Given the description of an element on the screen output the (x, y) to click on. 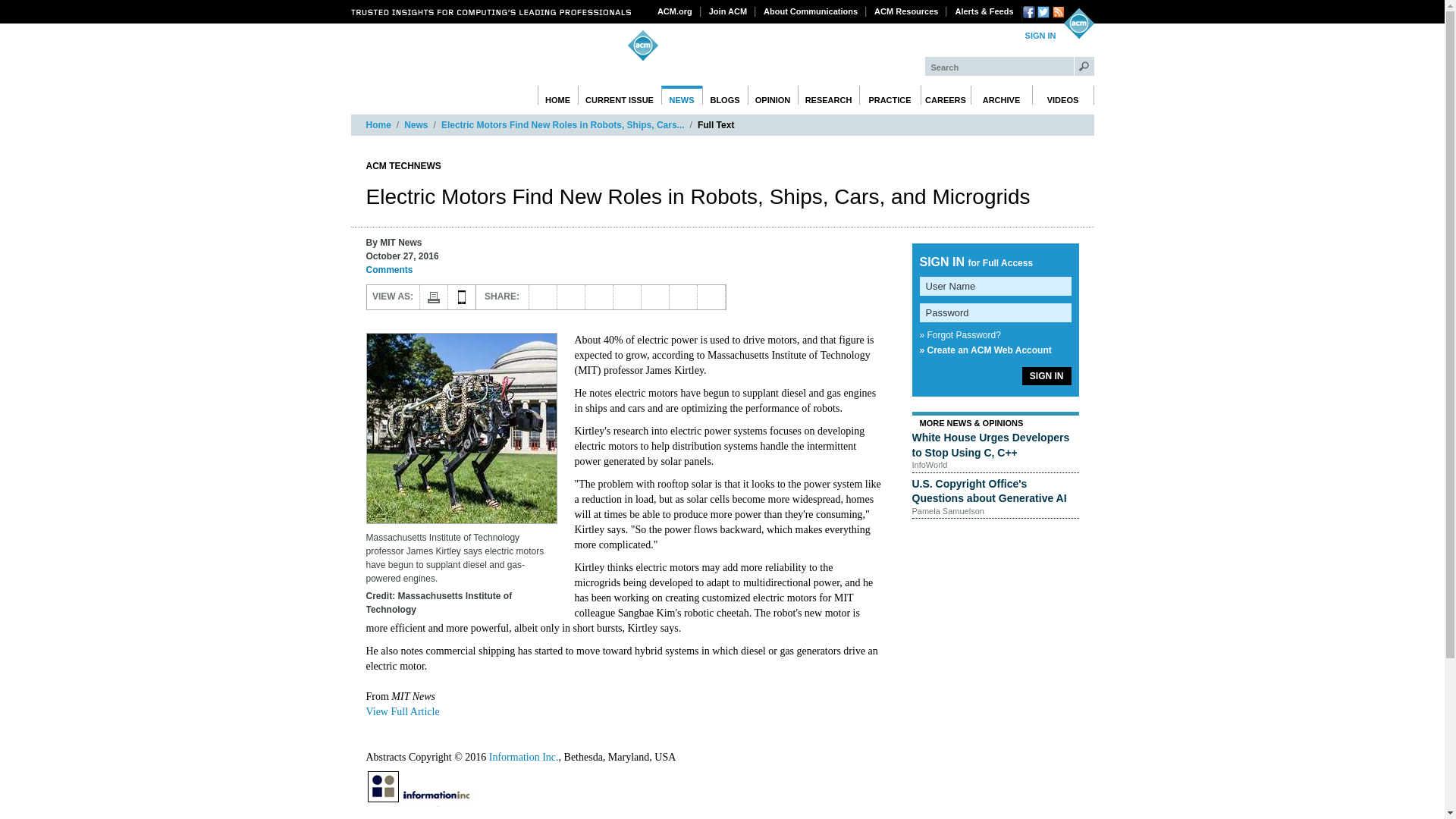
CAREERS (945, 94)
CURRENT ISSUE (620, 94)
Print (434, 297)
ACM Resources (906, 11)
NEWS (682, 94)
Communications of the ACM (466, 75)
Join ACM (727, 11)
MOBILE APPS (461, 297)
Communications of the ACM (466, 75)
